Given the description of an element on the screen output the (x, y) to click on. 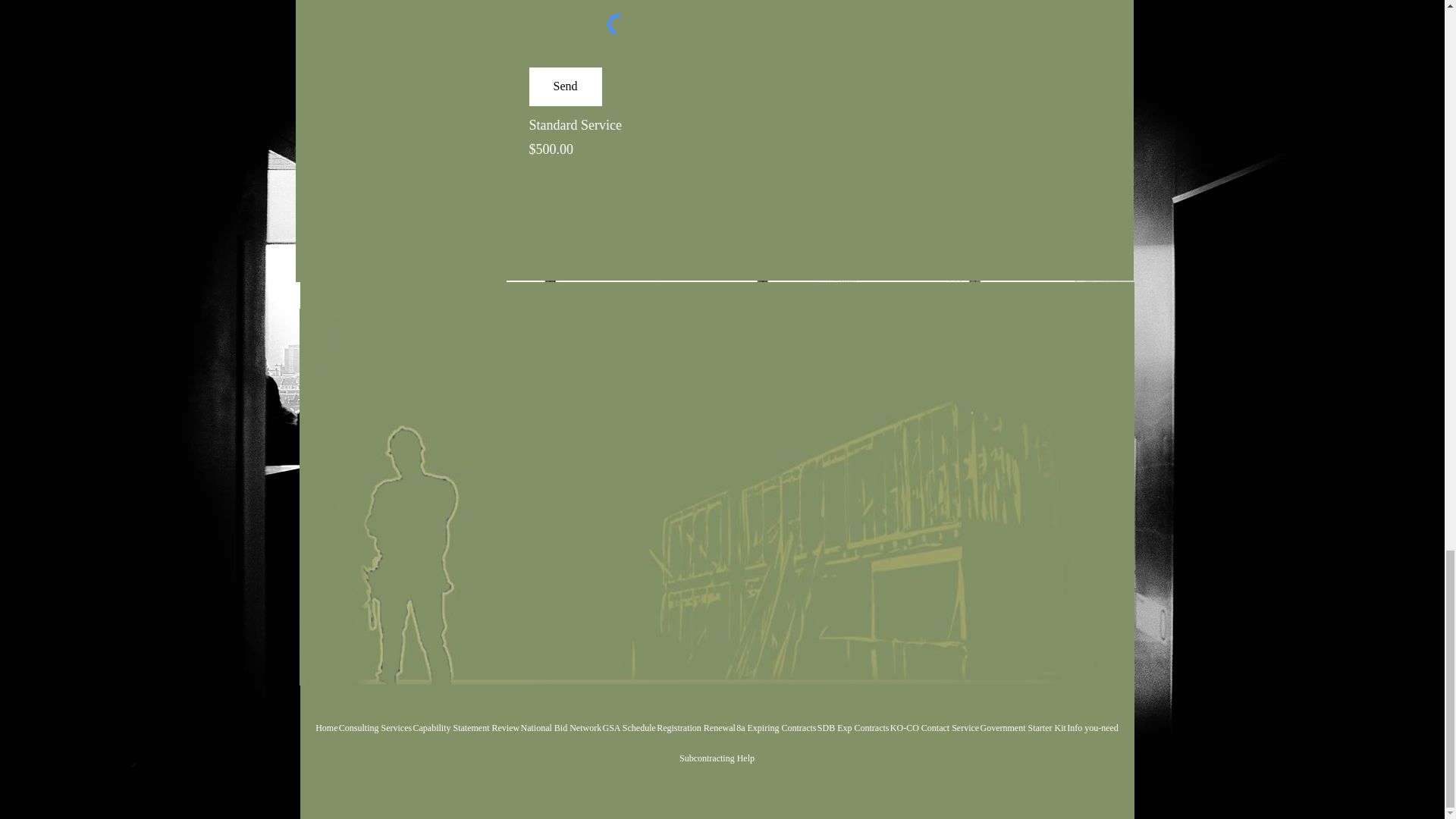
Info you-need (1091, 727)
Government Starter Kit (1023, 727)
Subcontracting Help (717, 757)
KO-CO Contact Service (934, 727)
Send (565, 86)
Consulting Services (374, 727)
GSA Schedule (629, 727)
8a Expiring Contracts (775, 727)
SDB Exp Contracts (852, 727)
Capability Statement Review (465, 727)
